Given the description of an element on the screen output the (x, y) to click on. 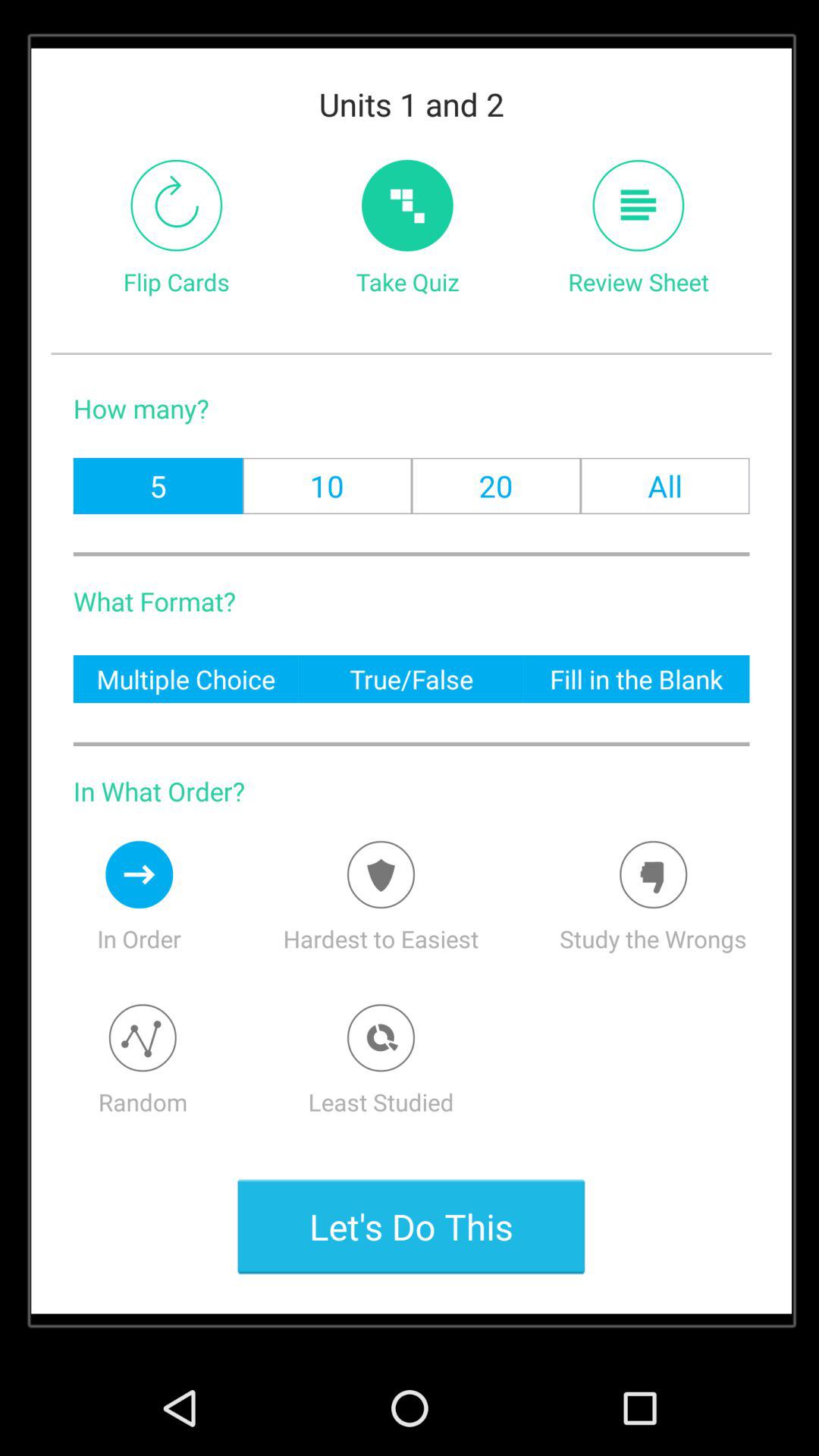
launch the multiple choice (185, 678)
